Given the description of an element on the screen output the (x, y) to click on. 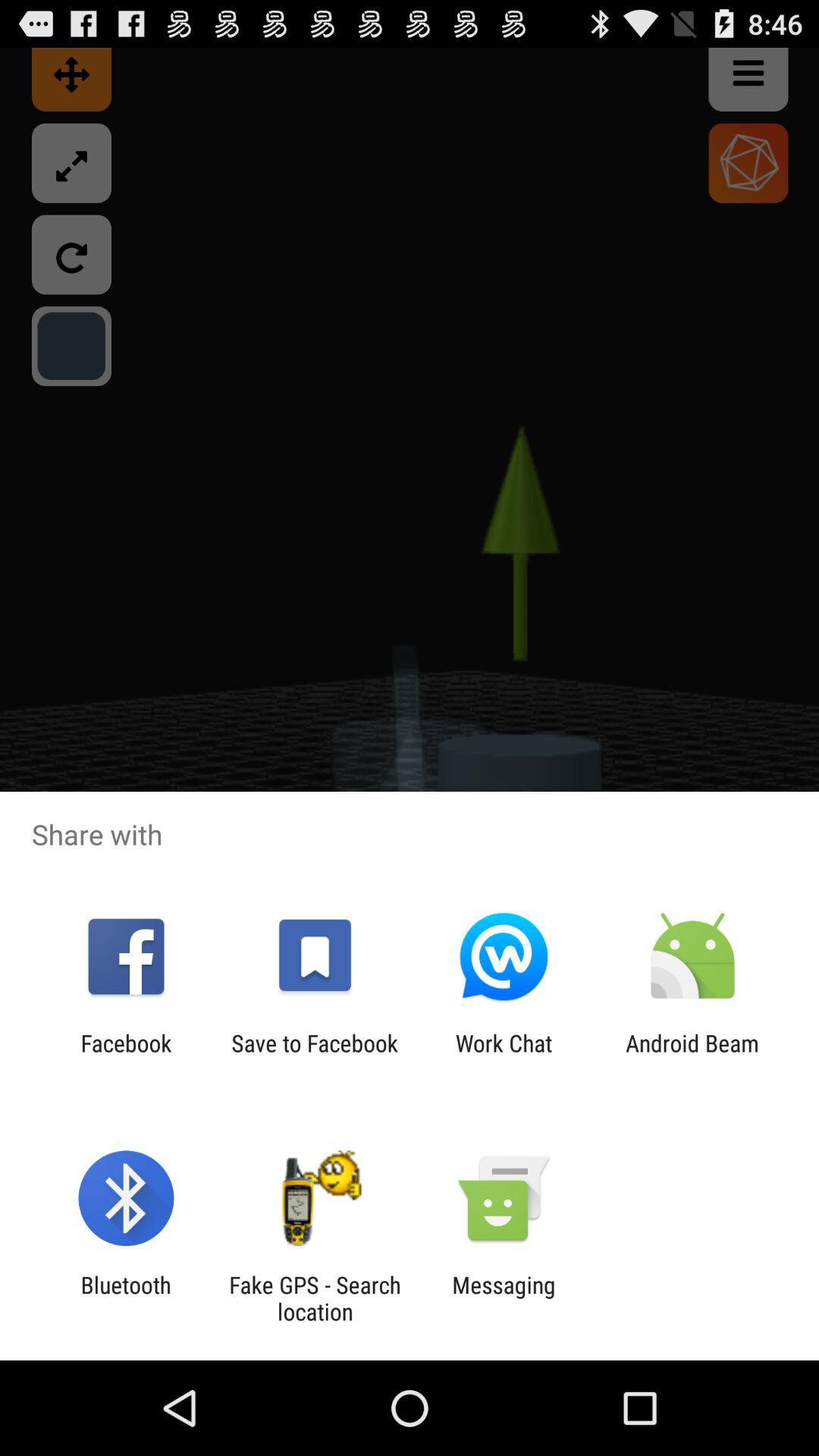
click the item next to bluetooth item (314, 1298)
